Given the description of an element on the screen output the (x, y) to click on. 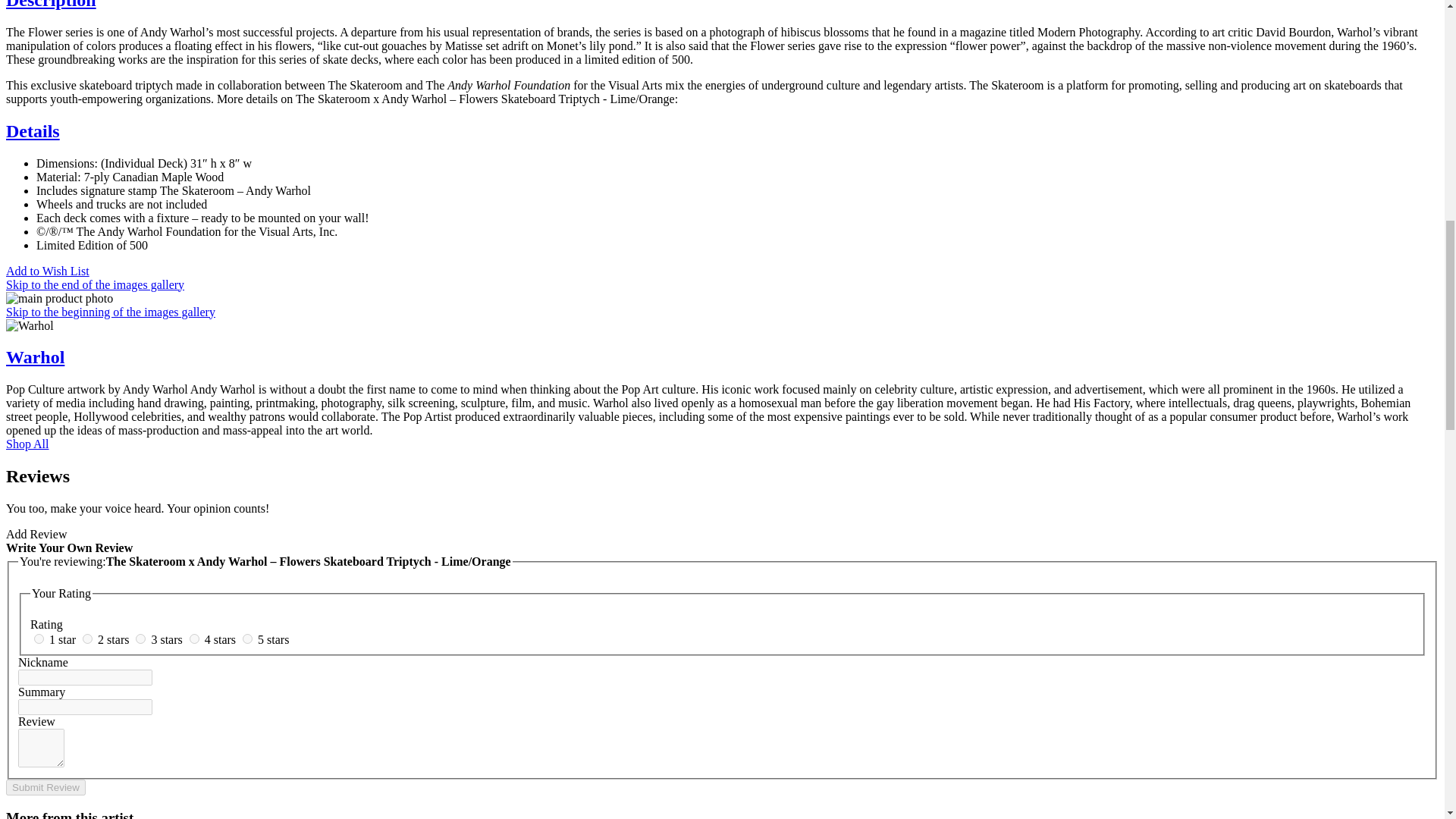
22 (140, 638)
16 (38, 638)
28 (247, 638)
19 (87, 638)
25 (194, 638)
